Given the description of an element on the screen output the (x, y) to click on. 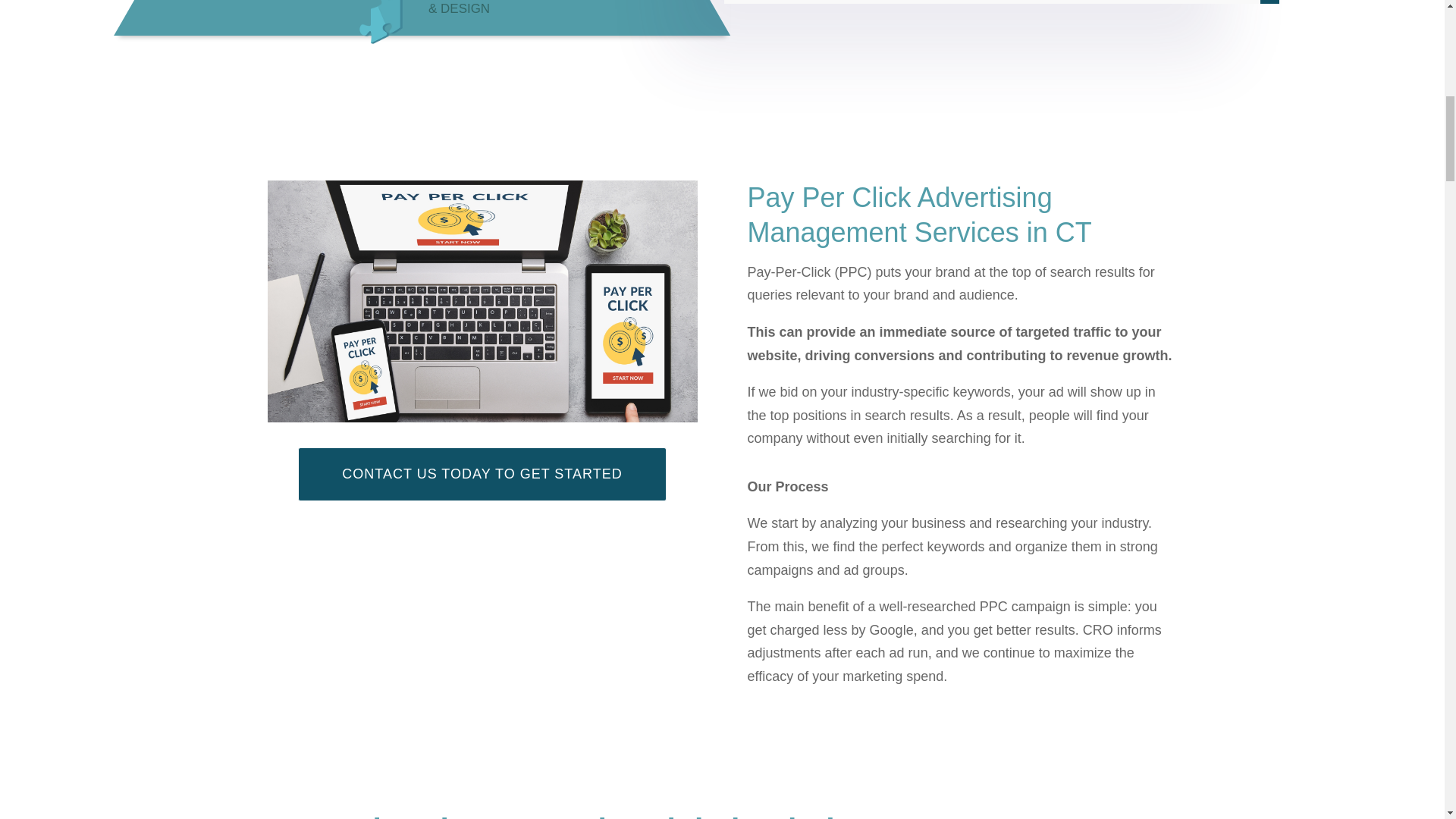
Pay Per Click services in CT (481, 301)
Tested and Trusted PPC and Paid Ads Provider in CT (390, 20)
